Given the description of an element on the screen output the (x, y) to click on. 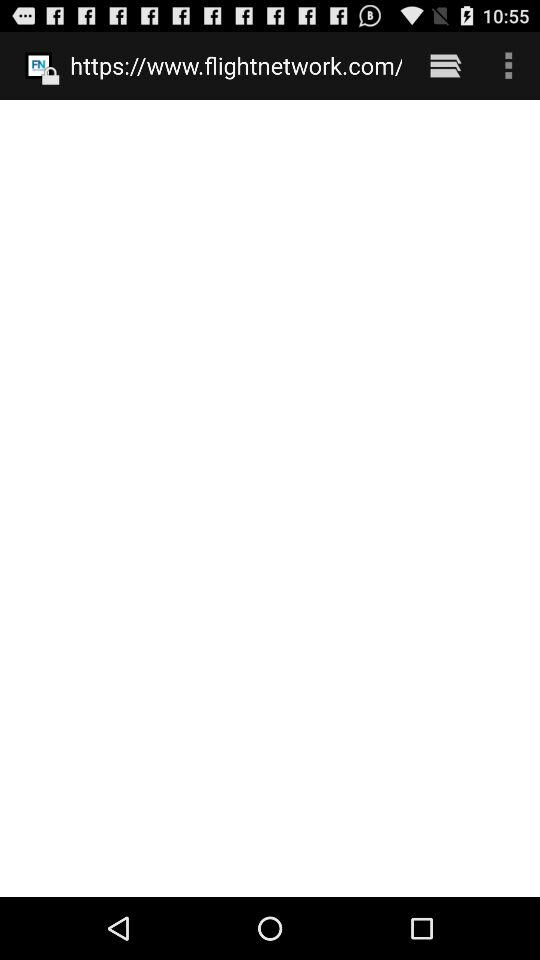
choose the icon at the top (235, 65)
